Given the description of an element on the screen output the (x, y) to click on. 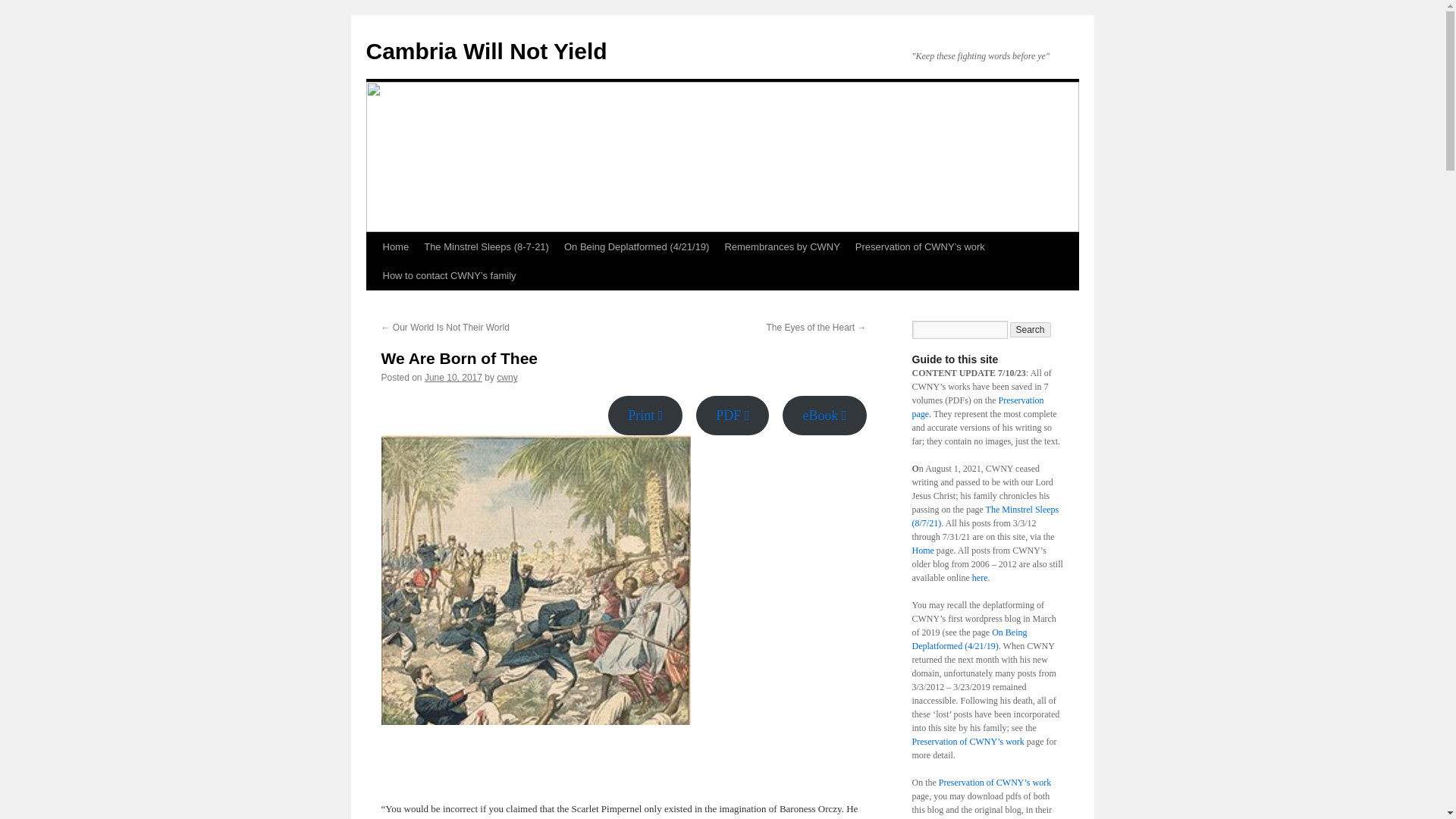
cwny (506, 377)
Search (1030, 329)
Cambria Will Not Yield (486, 50)
6:43 pm (453, 377)
Home (395, 246)
Preservation page (977, 406)
here (980, 577)
Cambria Will Not Yield (486, 50)
Home (922, 550)
Remembrances by CWNY (781, 246)
